Given the description of an element on the screen output the (x, y) to click on. 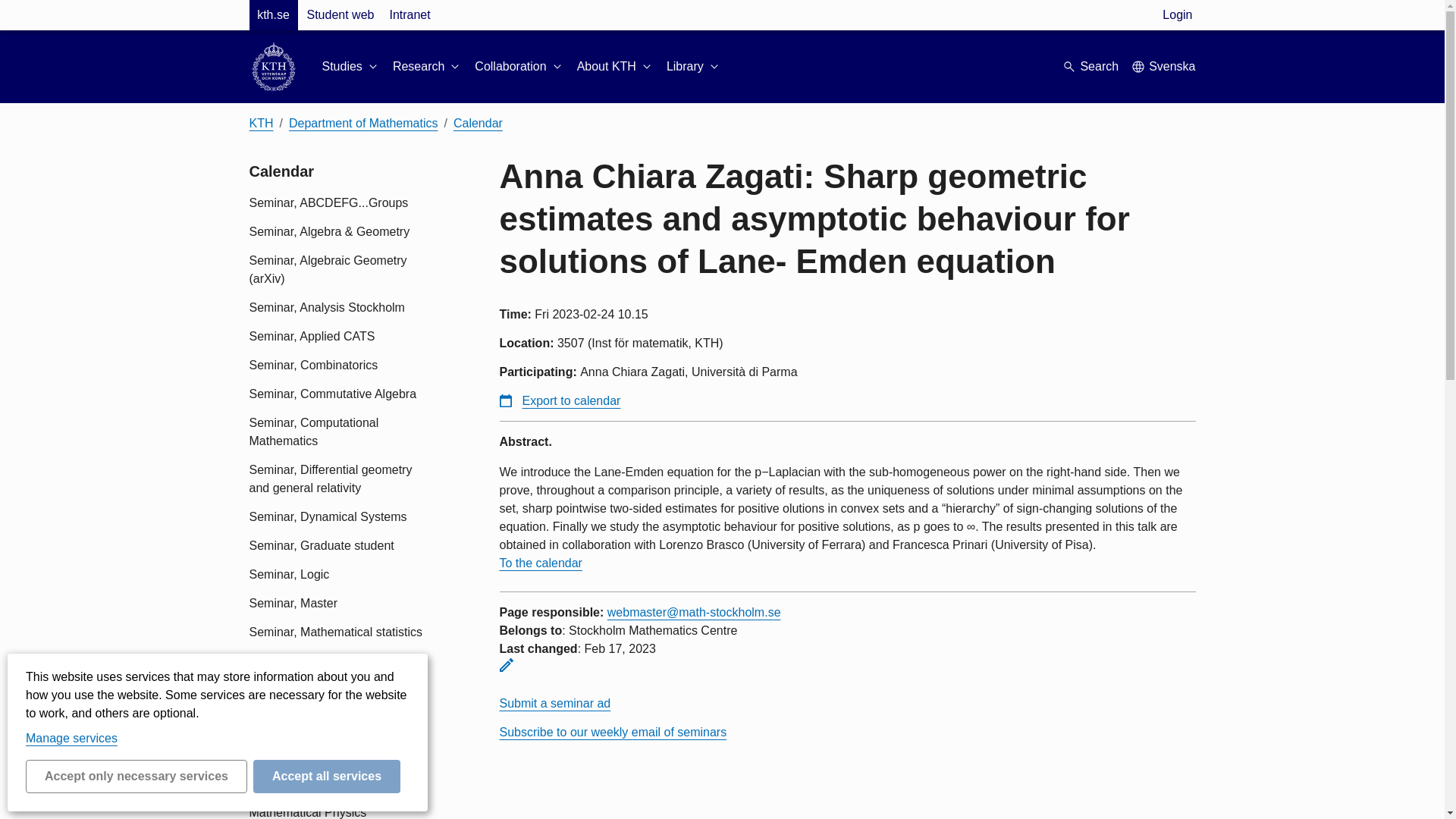
Manage services (71, 738)
About KTH (614, 66)
Accept all services (326, 776)
Login (1176, 15)
Studies (350, 66)
Library (694, 66)
Accept only necessary services (136, 776)
Collaboration (519, 66)
Edit this page (505, 664)
Student web (339, 15)
Intranet (408, 15)
kth.se (272, 15)
Research (428, 66)
